Given the description of an element on the screen output the (x, y) to click on. 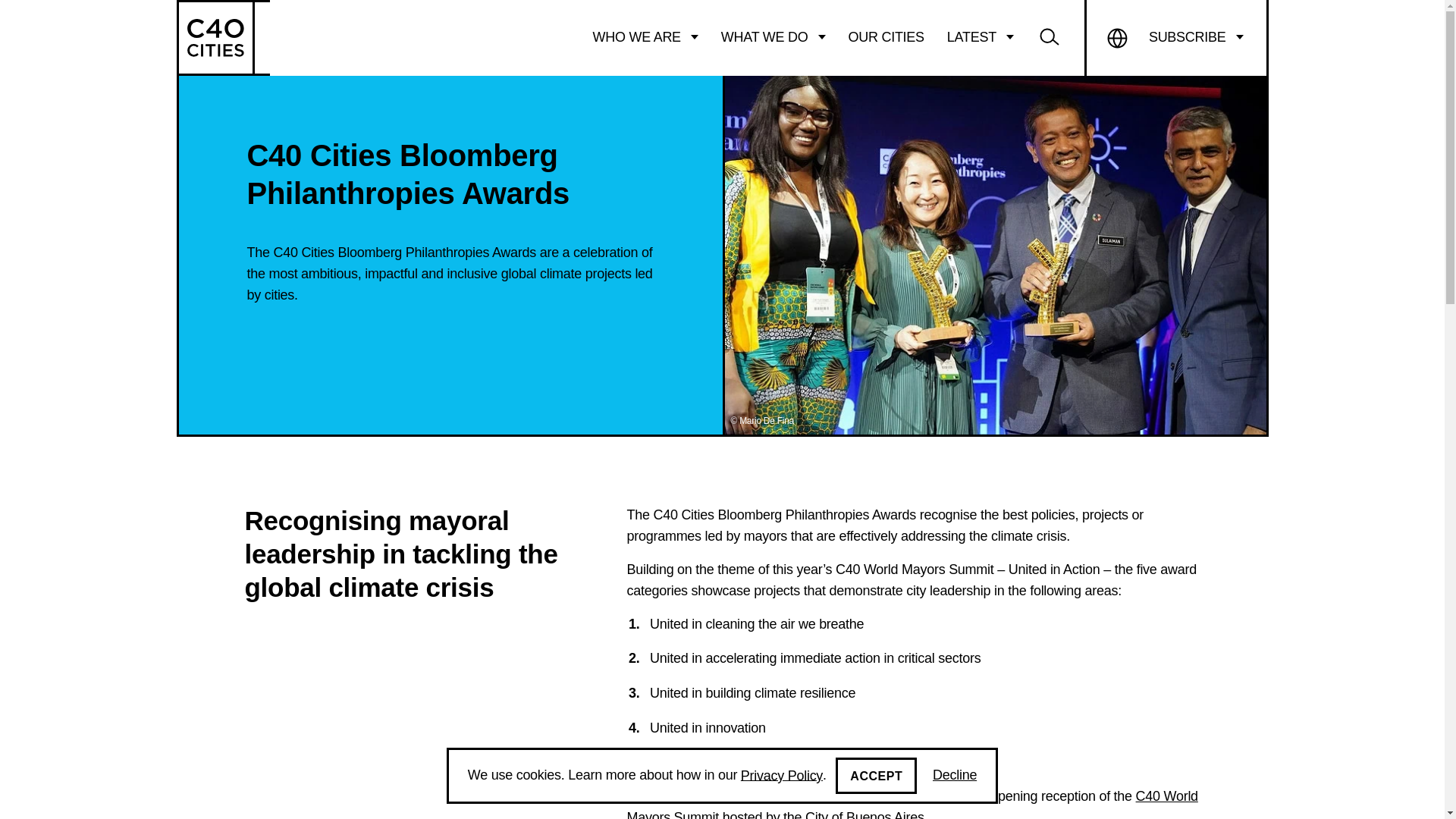
WHO WE ARE (645, 37)
WHAT WE DO (773, 37)
LATEST (980, 37)
OUR CITIES (886, 37)
